Given the description of an element on the screen output the (x, y) to click on. 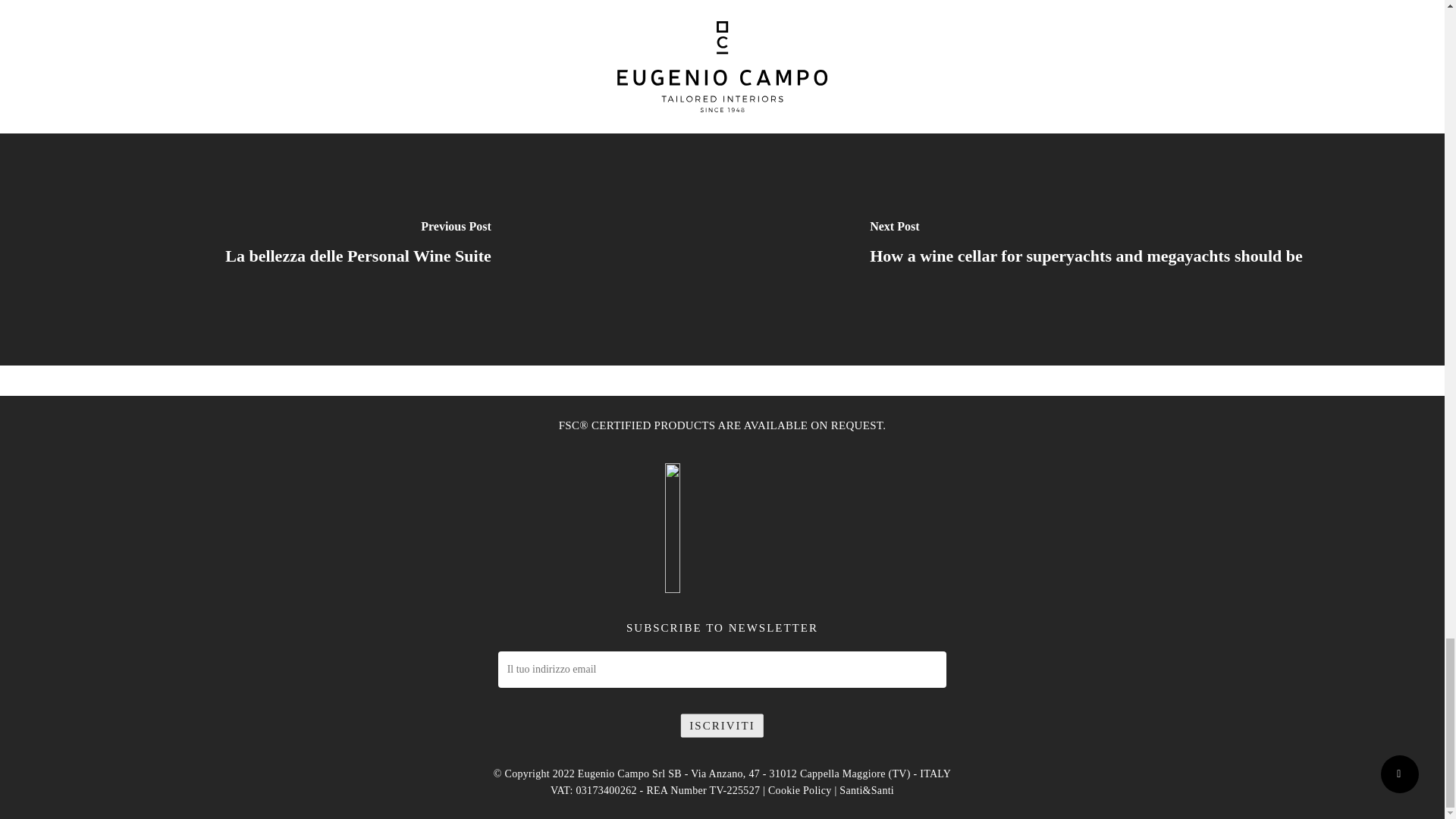
Iscriviti (721, 725)
Cookie Policy (799, 790)
Iscriviti (721, 725)
